Given the description of an element on the screen output the (x, y) to click on. 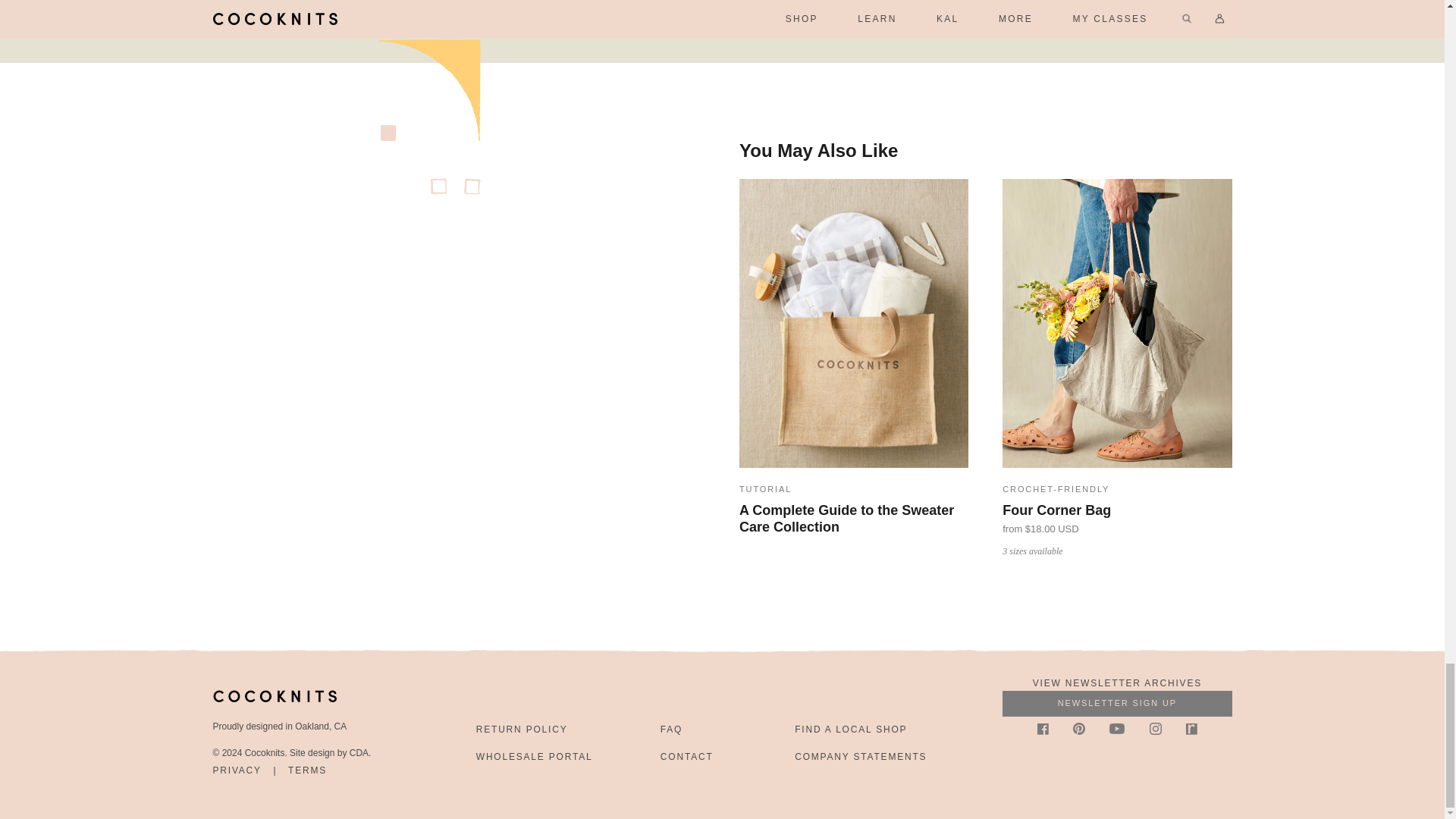
Post comment (812, 8)
